Given the description of an element on the screen output the (x, y) to click on. 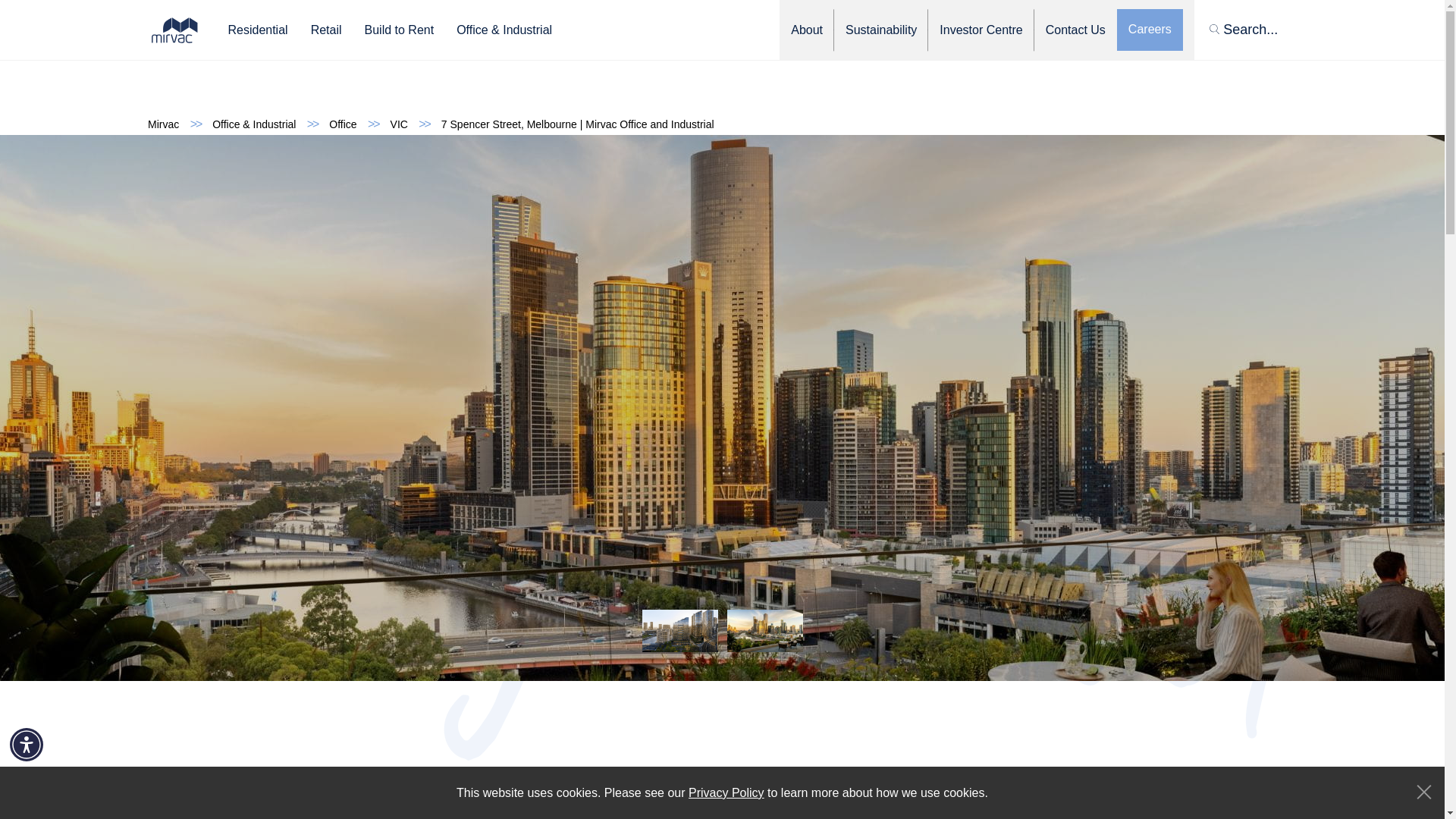
Privacy policy (726, 792)
Home (163, 125)
7 Spencer Street (577, 125)
Office (342, 125)
Residential (256, 30)
VIC (398, 125)
Retail (326, 30)
Accessibility Menu (26, 744)
Image 1 (174, 29)
